Given the description of an element on the screen output the (x, y) to click on. 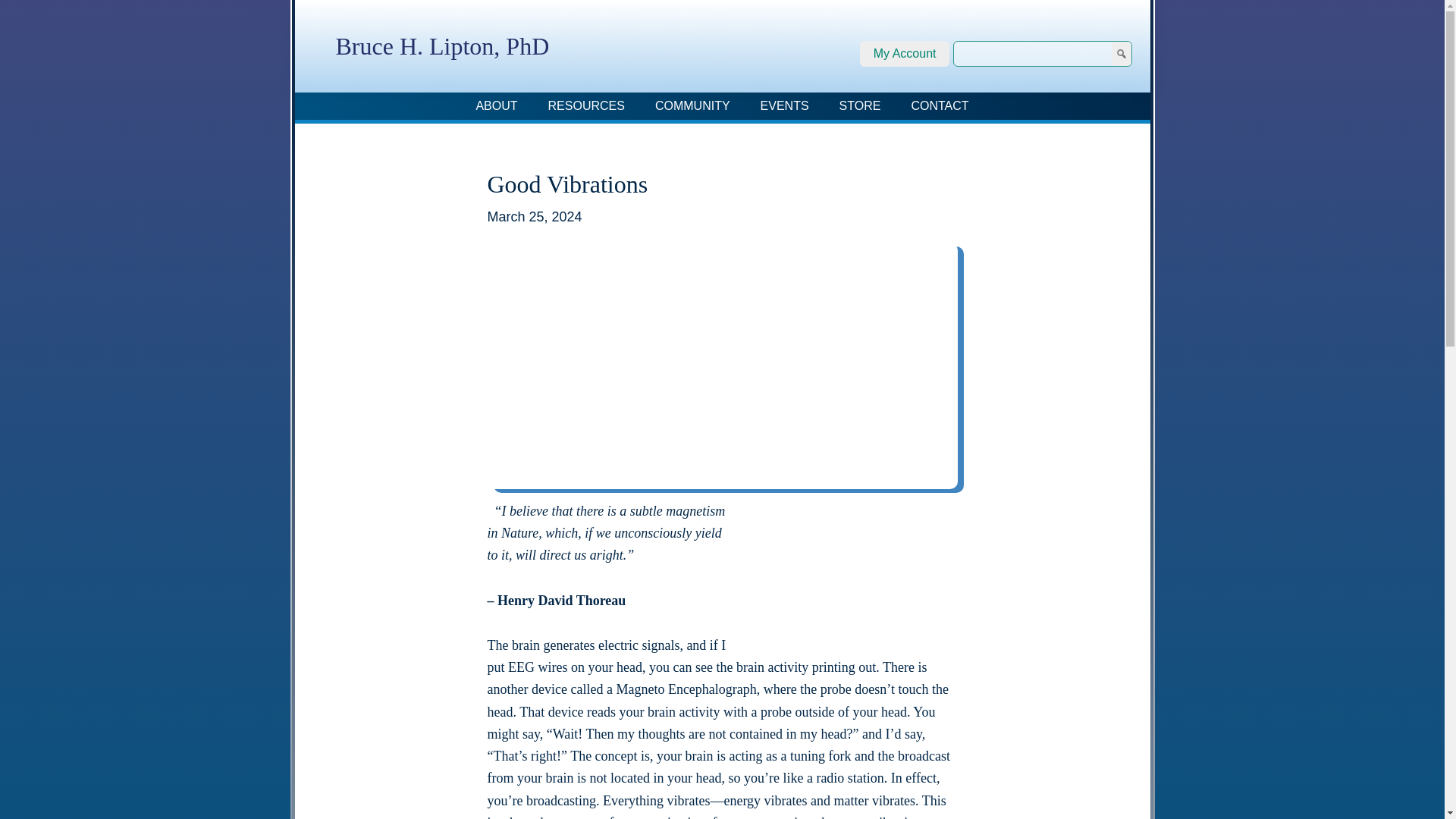
Bruce H. Lipton, PhD (441, 45)
RESOURCES (586, 105)
My Account (905, 53)
STORE (860, 105)
EVENTS (784, 105)
COMMUNITY (692, 105)
CONTACT (939, 105)
ABOUT (496, 105)
My Account (904, 52)
